Given the description of an element on the screen output the (x, y) to click on. 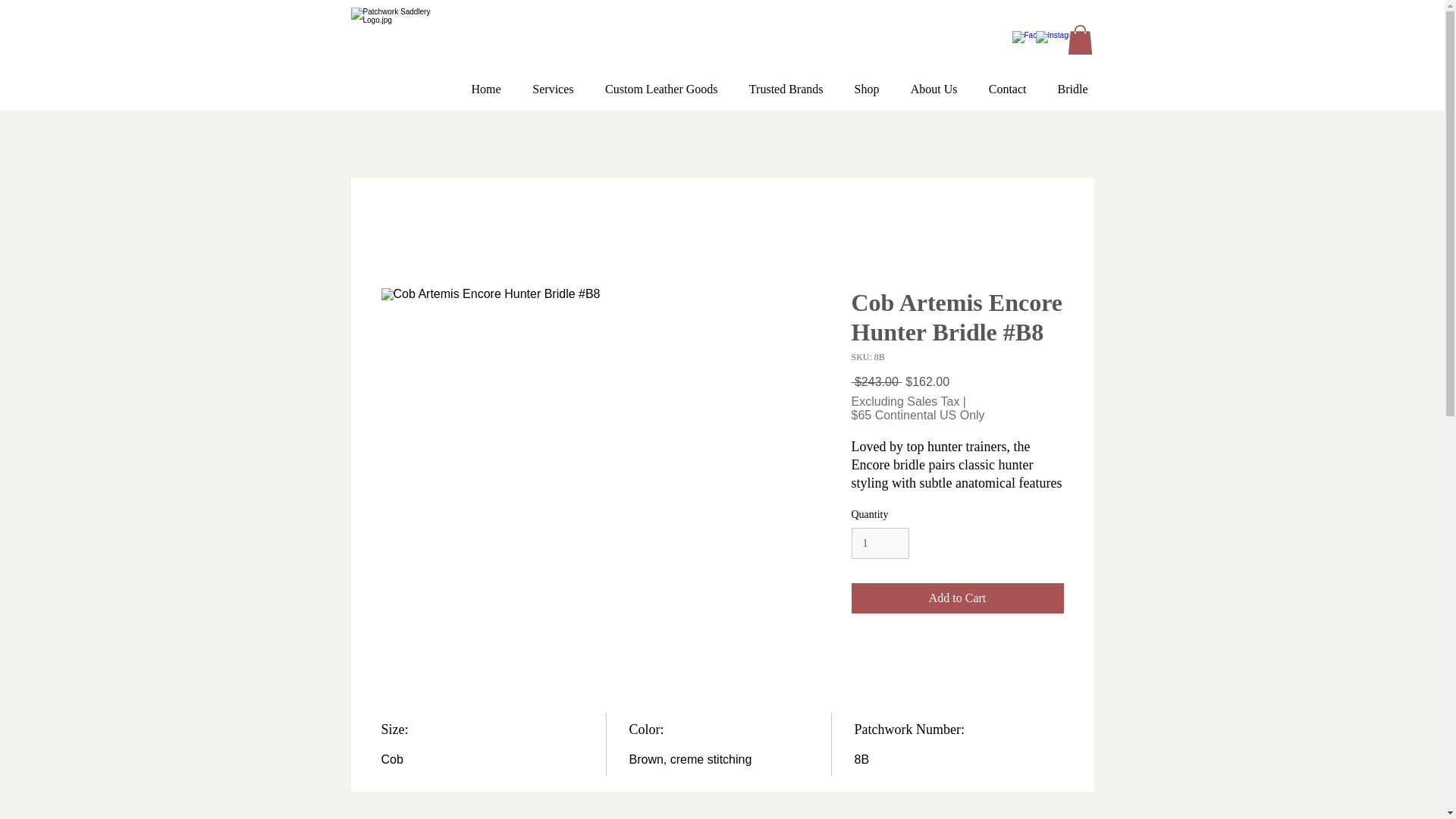
Custom Leather Goods (651, 82)
Home (475, 82)
About Us (924, 82)
Services (542, 82)
Trusted Brands (775, 82)
1 (879, 542)
Shop (857, 82)
Add to Cart (956, 598)
Bridle (1063, 82)
Contact (997, 82)
